Given the description of an element on the screen output the (x, y) to click on. 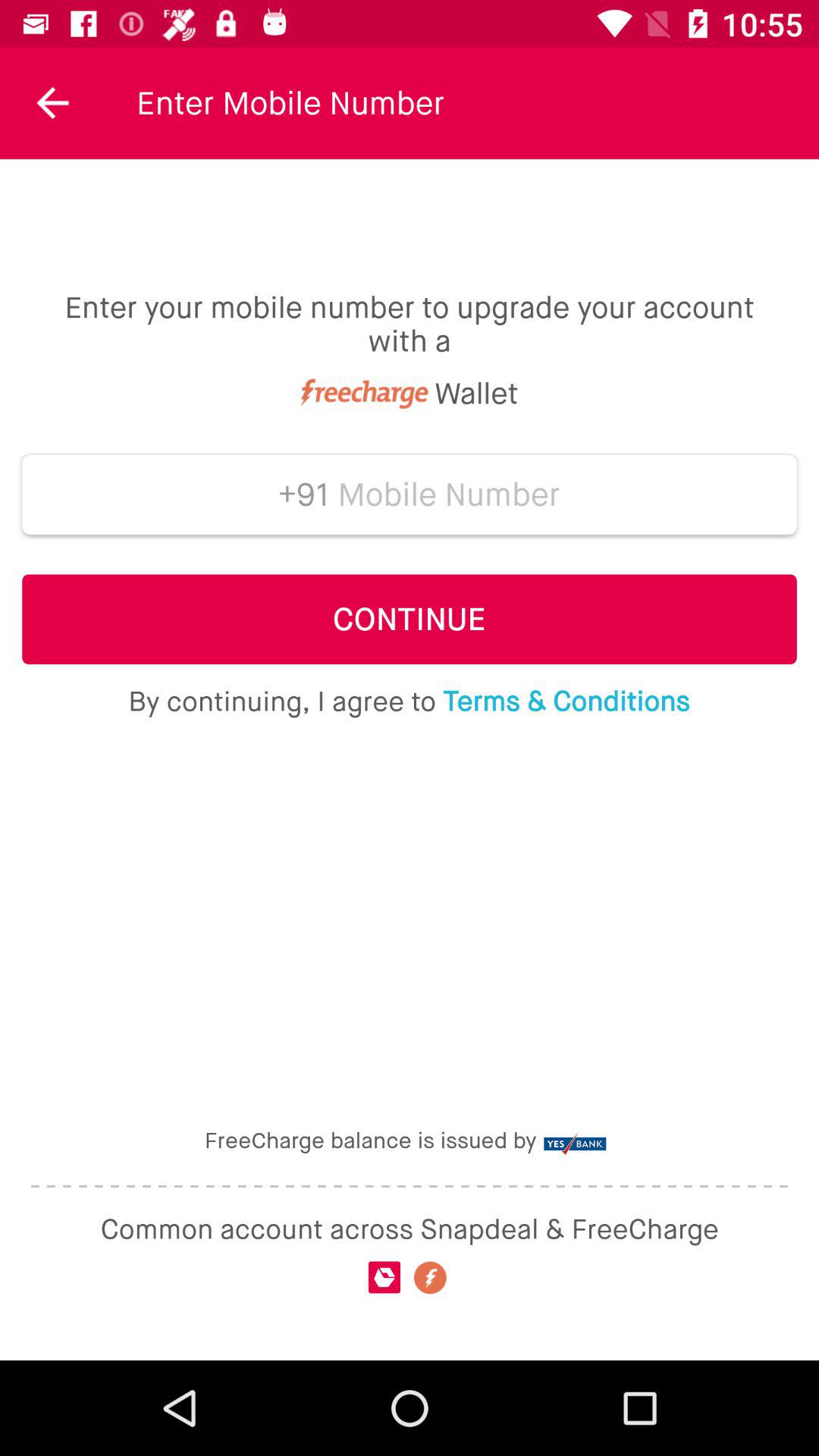
turn off the item below wallet item (297, 494)
